Given the description of an element on the screen output the (x, y) to click on. 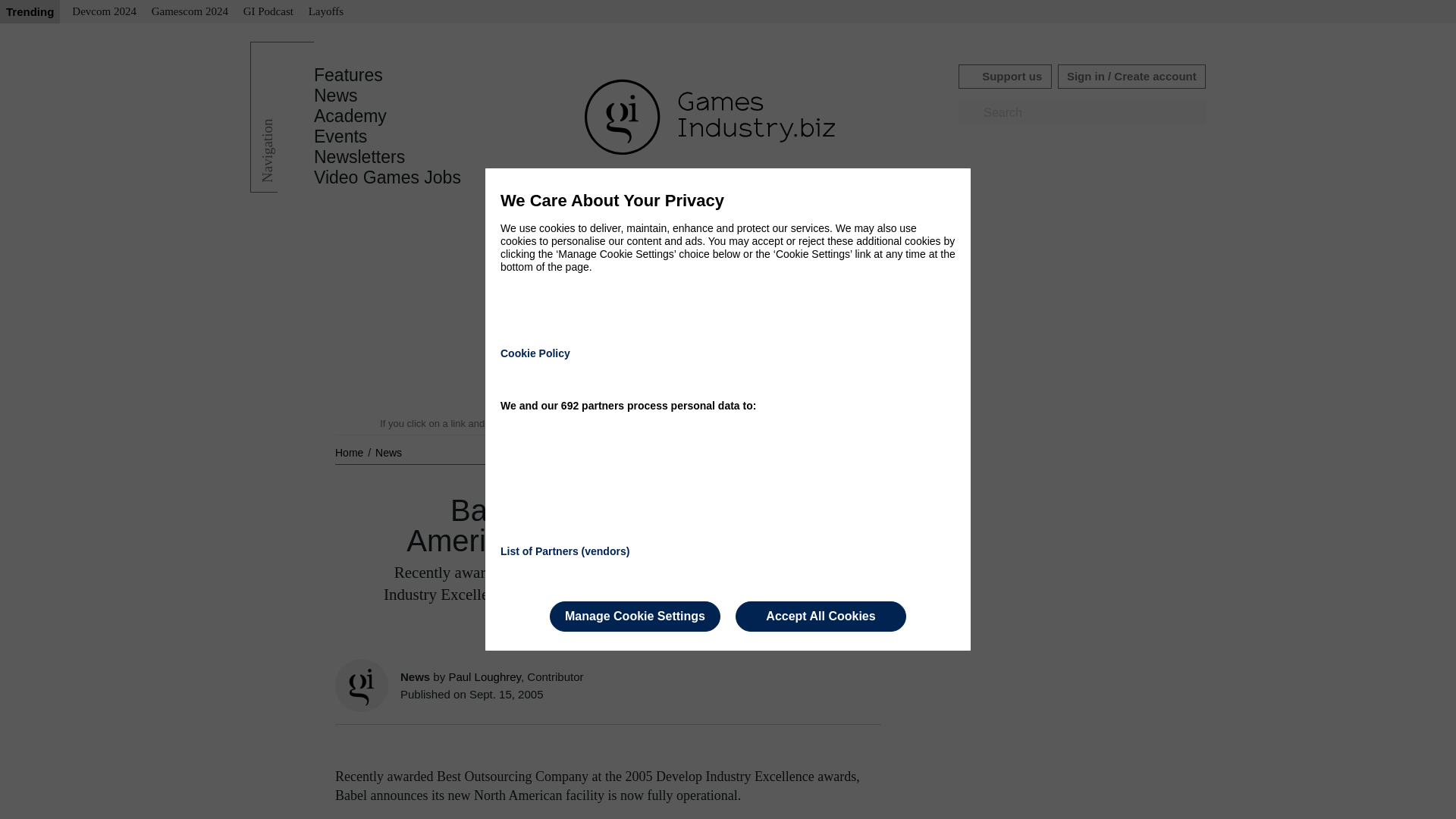
Gamescom 2024 (189, 11)
Layoffs (325, 11)
Video Games Jobs (387, 177)
Events (340, 136)
Devcom 2024 (103, 11)
News (336, 95)
News (388, 452)
Newsletters (359, 157)
Layoffs (325, 11)
Home (350, 452)
